Given the description of an element on the screen output the (x, y) to click on. 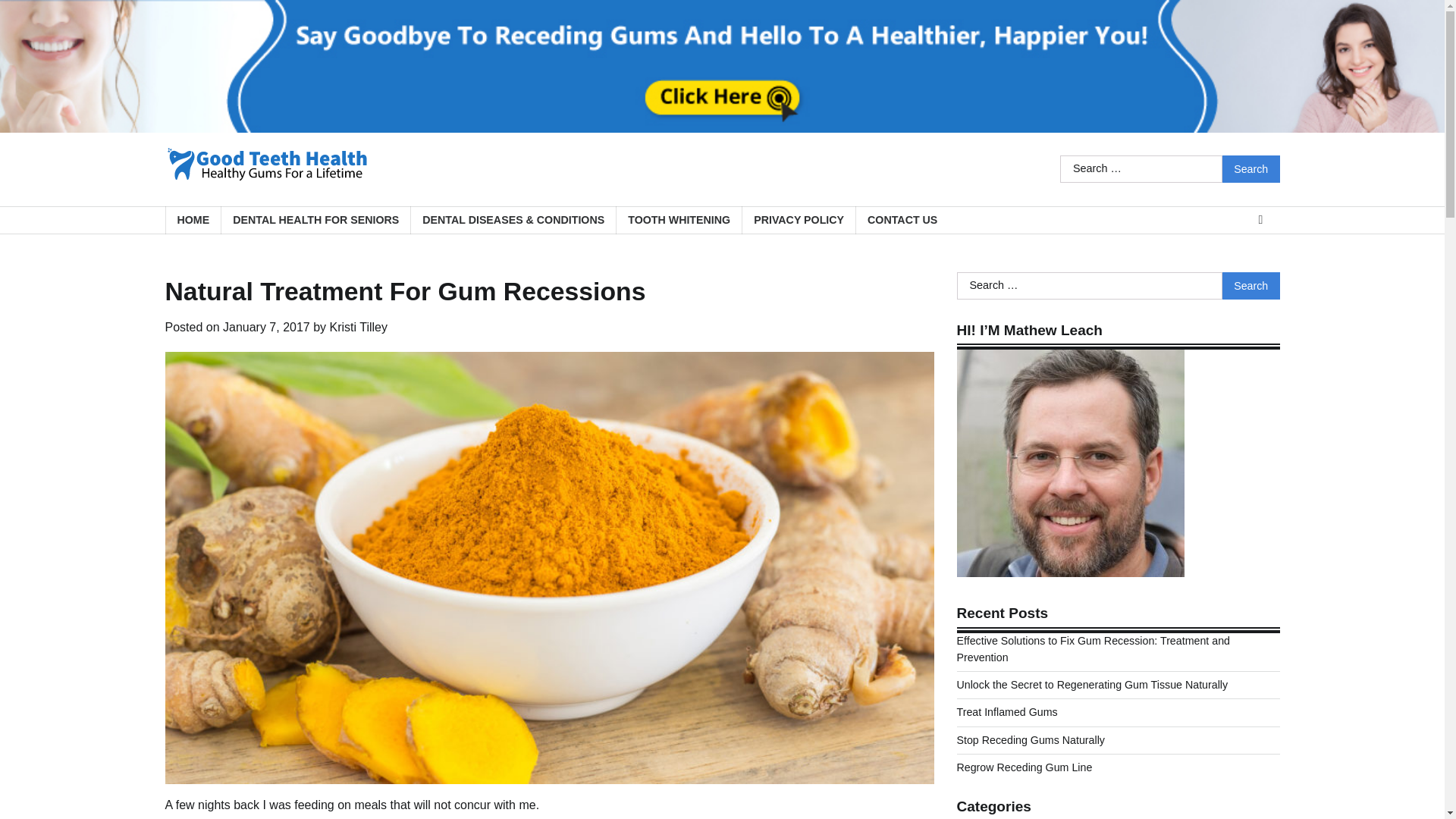
Stop Receding Gums Naturally (1030, 739)
Treat Inflamed Gums (1007, 711)
View Random Post (1260, 219)
Search (1251, 285)
Search (1251, 168)
DENTAL HEALTH FOR SENIORS (315, 220)
January 7, 2017 (266, 327)
PRIVACY POLICY (798, 220)
Unlock the Secret to Regenerating Gum Tissue Naturally (1092, 684)
TOOTH WHITENING (678, 220)
HOME (193, 220)
Kristi Tilley (358, 327)
Search (1251, 285)
Search (1251, 285)
